Given the description of an element on the screen output the (x, y) to click on. 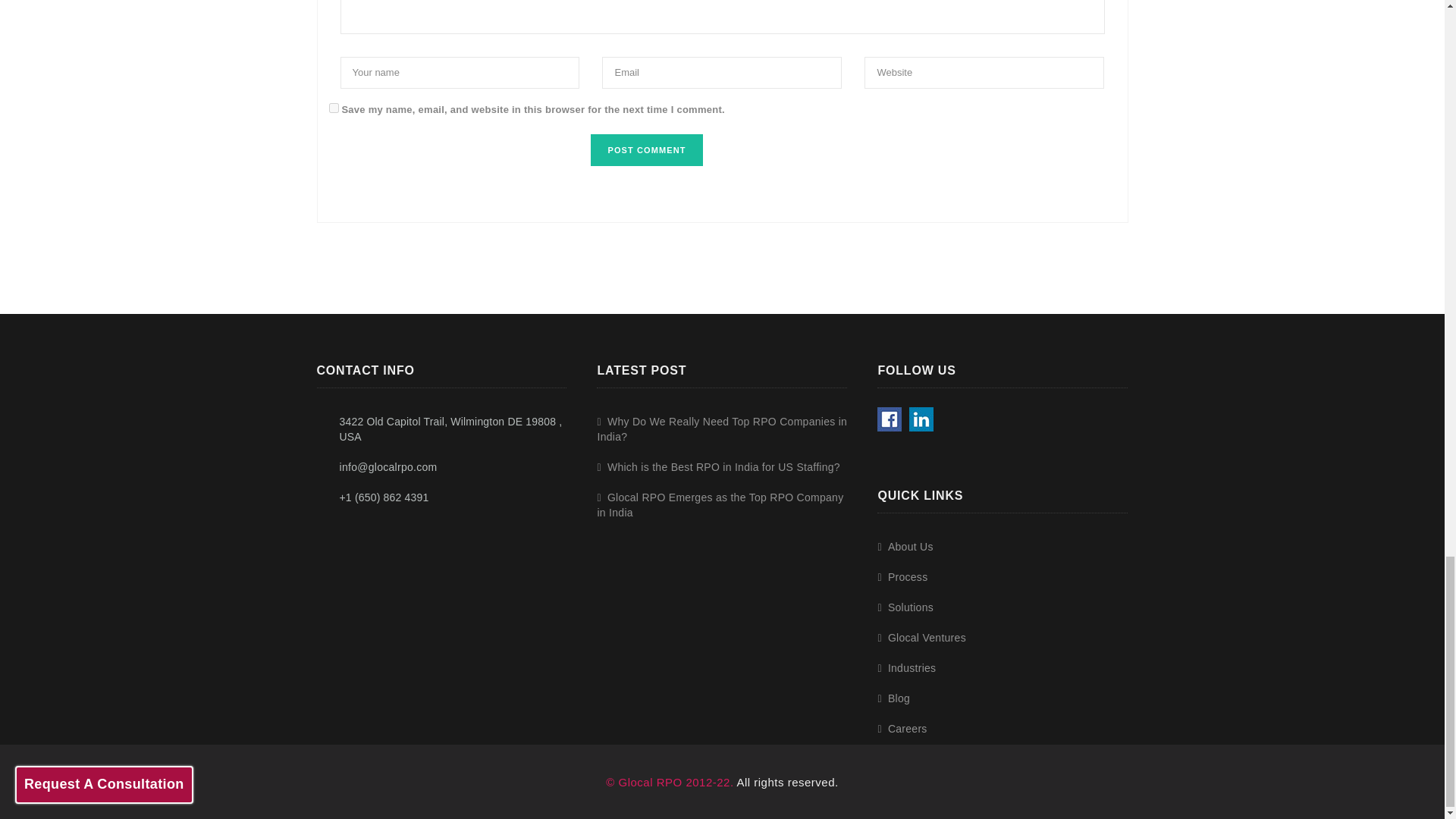
Post Comment (646, 150)
Email (721, 72)
yes (334, 108)
Your name (459, 72)
LinkedIn (920, 419)
Facebook (889, 419)
Website (983, 72)
